Given the description of an element on the screen output the (x, y) to click on. 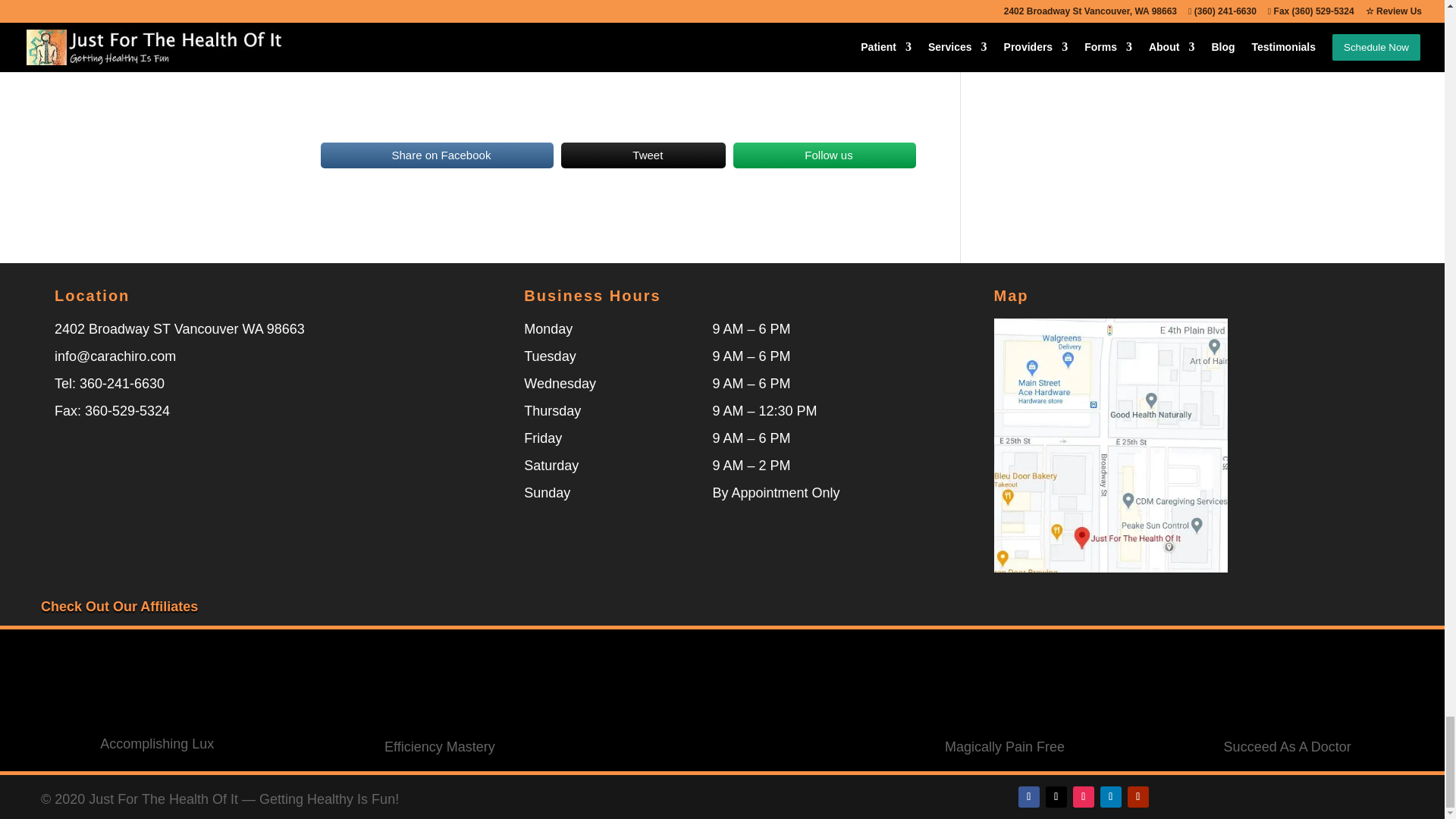
Follow on LinkedIn (1110, 796)
Follow on Facebook (1028, 796)
Follow on X (1056, 796)
Follow on Instagram (1083, 796)
map4 (1110, 445)
Follow on Youtube (1137, 796)
